Given the description of an element on the screen output the (x, y) to click on. 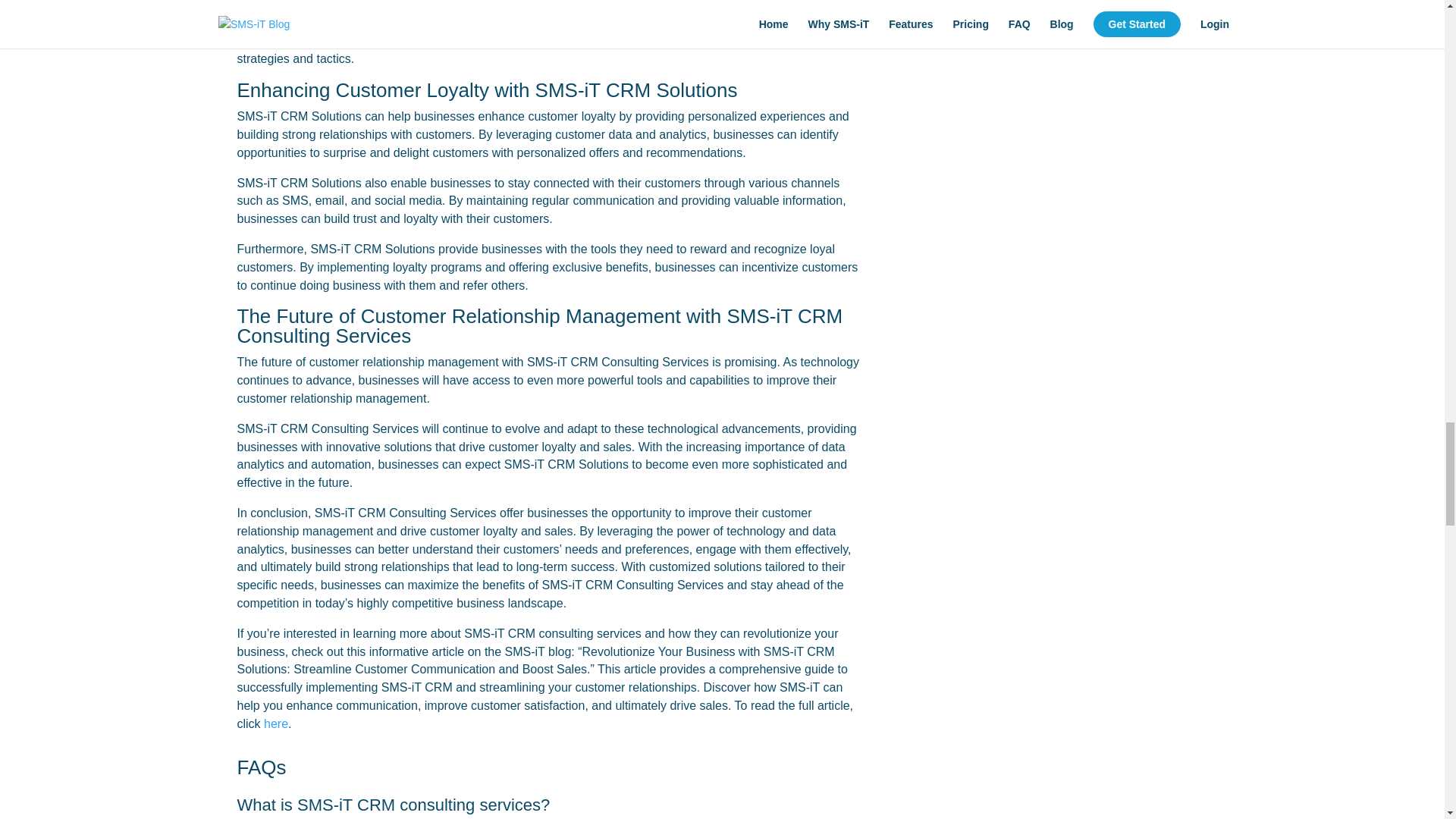
here (275, 723)
